Given the description of an element on the screen output the (x, y) to click on. 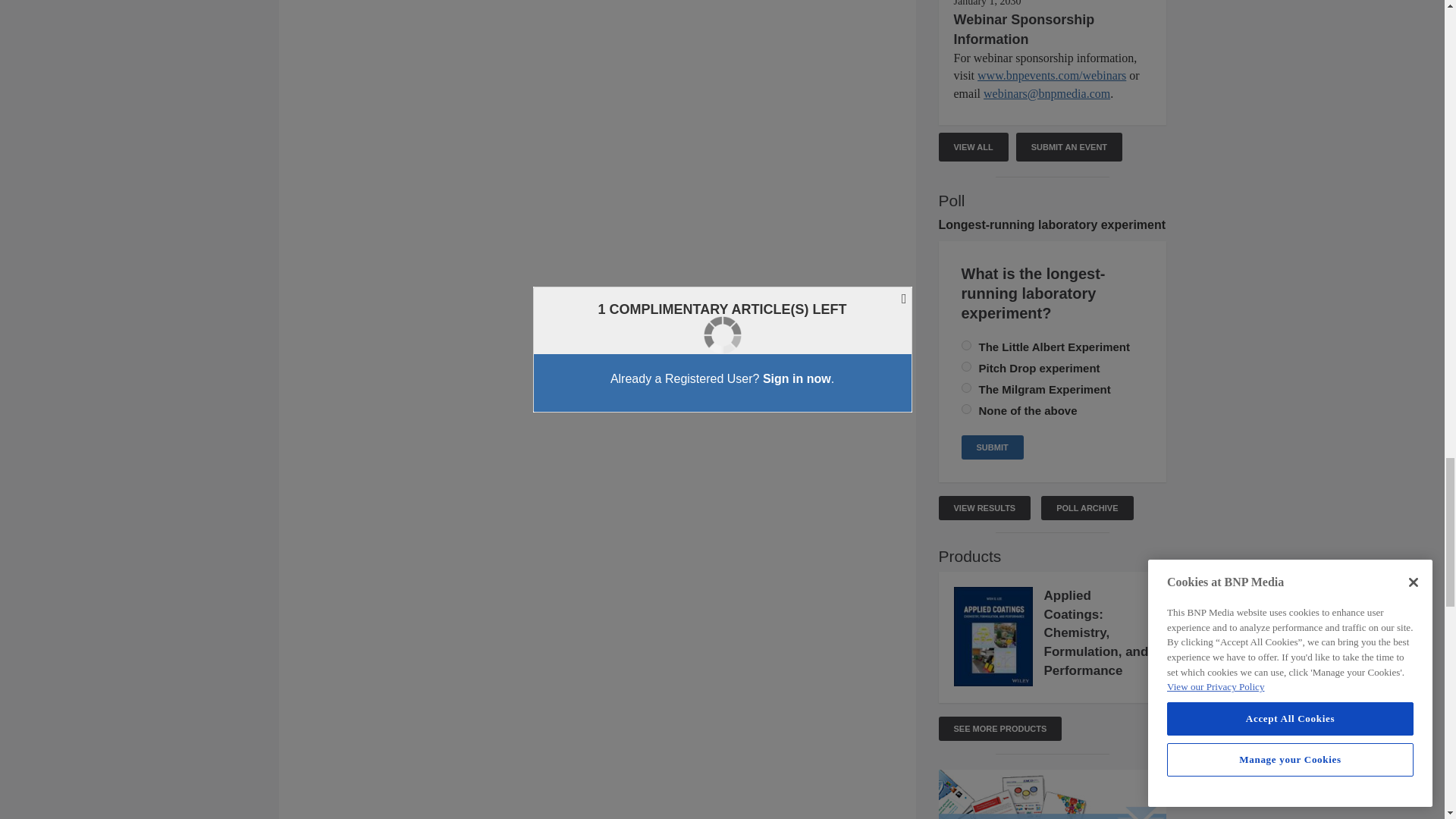
231 (965, 409)
232 (965, 388)
Webinar Sponsorship Information (1023, 29)
Submit (991, 446)
230 (965, 366)
233 (965, 345)
